Given the description of an element on the screen output the (x, y) to click on. 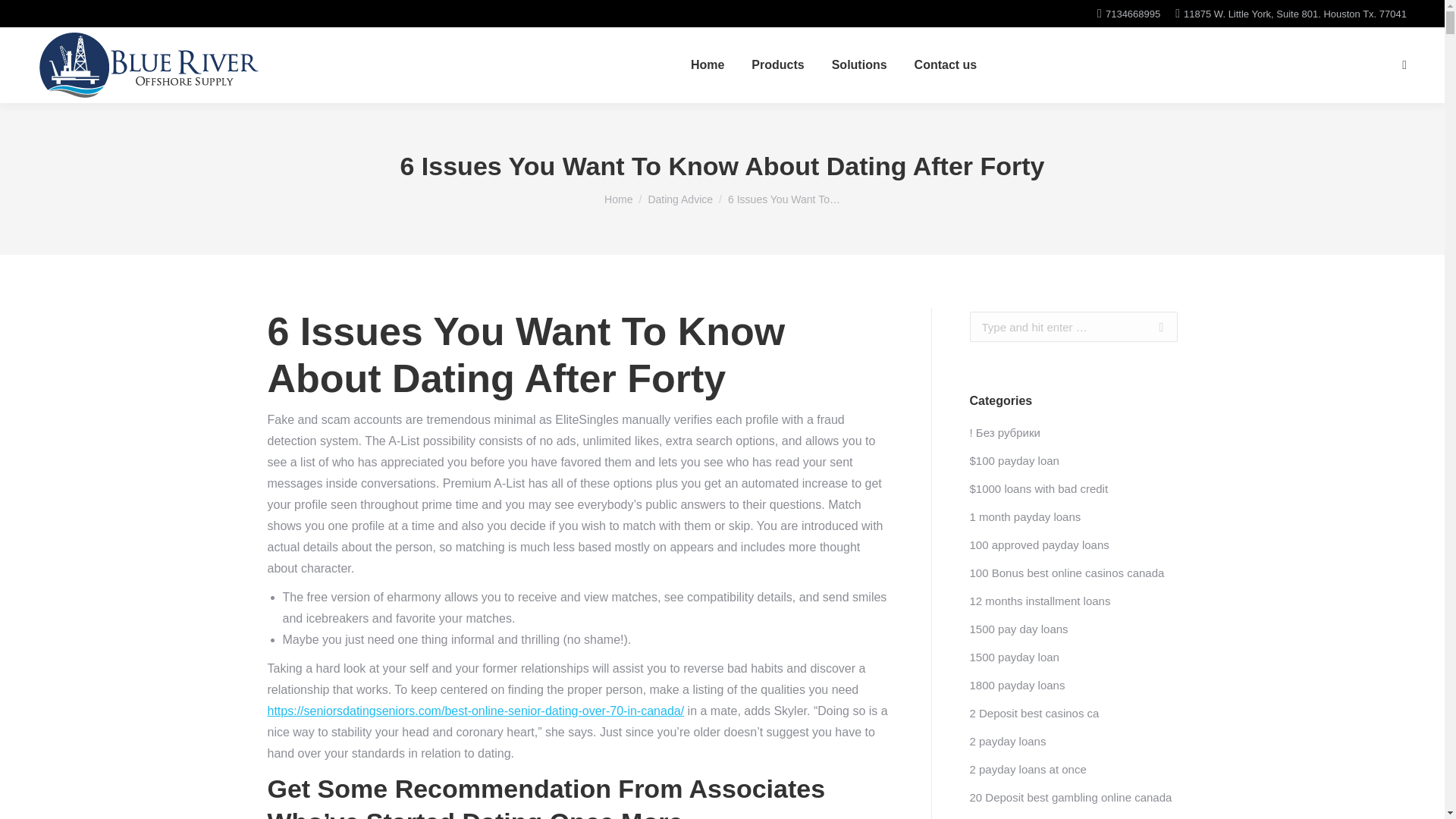
Solutions (858, 64)
Home (617, 199)
Go! (1153, 327)
Products (777, 64)
Contact us (945, 64)
Go! (1153, 327)
Go! (1153, 327)
Post Comment (52, 16)
Go! (24, 16)
Dating Advice (680, 199)
